Given the description of an element on the screen output the (x, y) to click on. 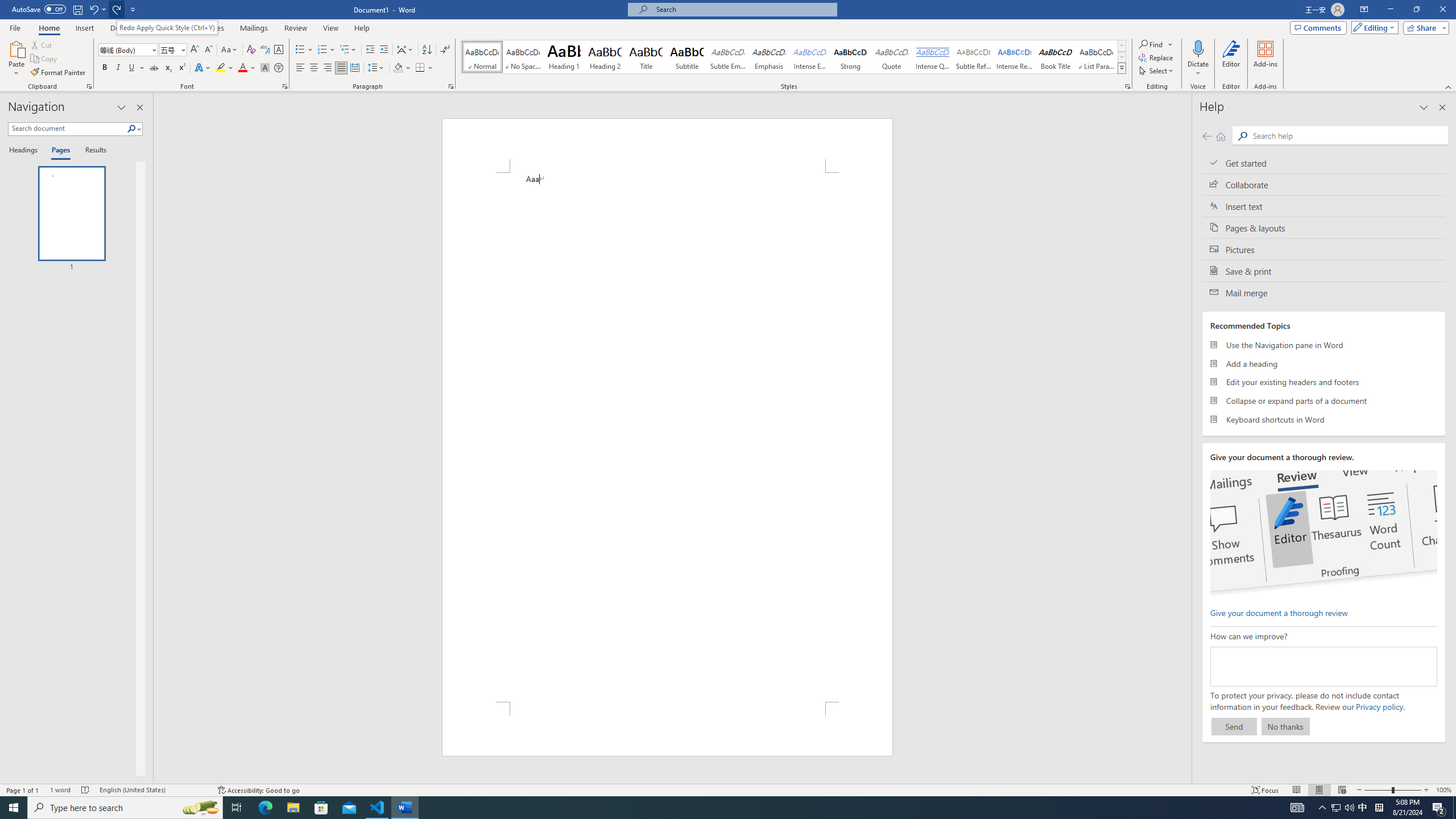
Collaborate (1323, 184)
Strong (849, 56)
How can we improve? (1323, 666)
Privacy policy (1379, 706)
Heading 1 (564, 56)
